Given the description of an element on the screen output the (x, y) to click on. 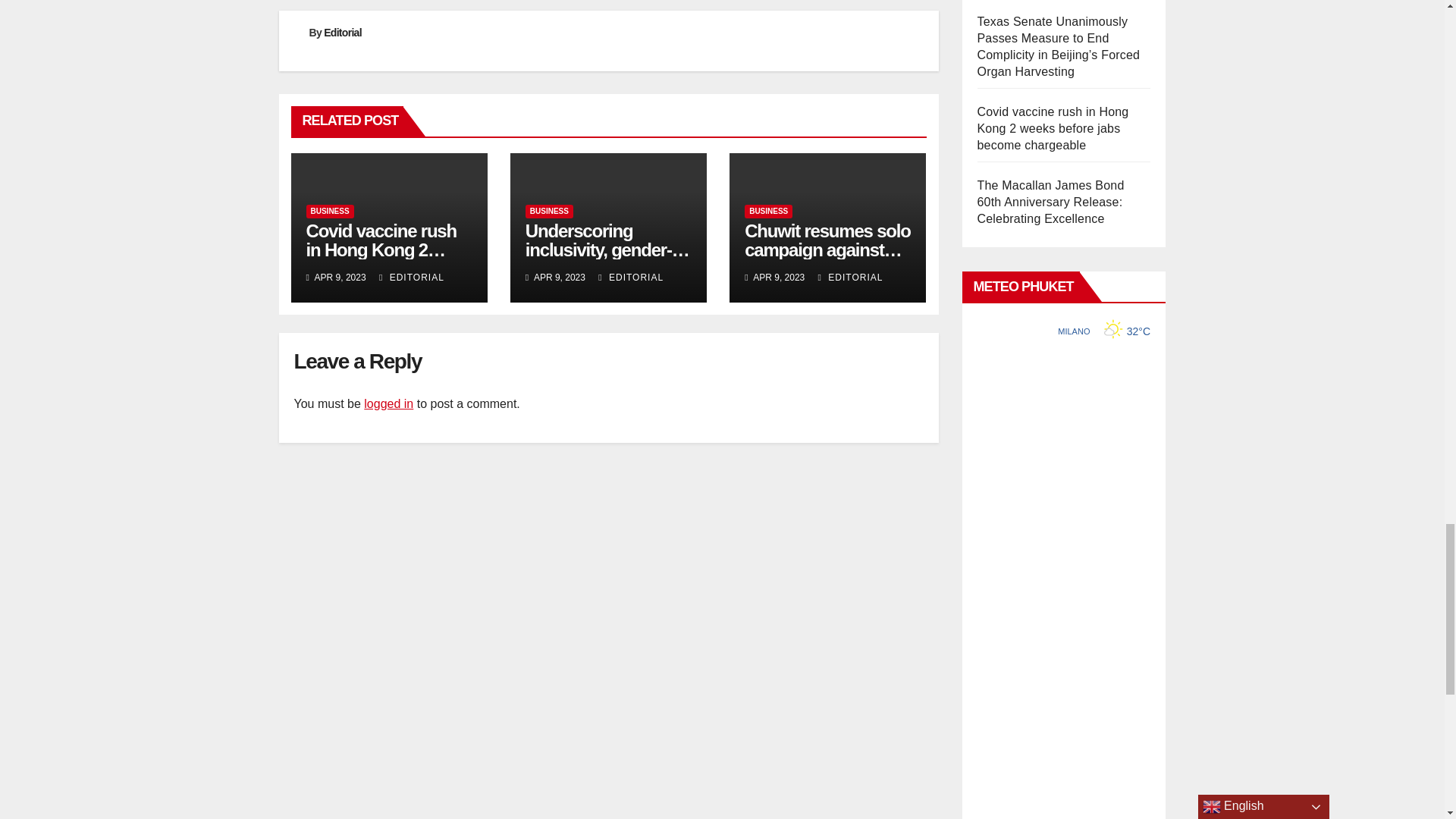
EDITORIAL (630, 276)
Editorial (342, 32)
BUSINESS (768, 211)
EDITORIAL (411, 276)
BUSINESS (329, 211)
BUSINESS (549, 211)
EDITORIAL (850, 276)
